Given the description of an element on the screen output the (x, y) to click on. 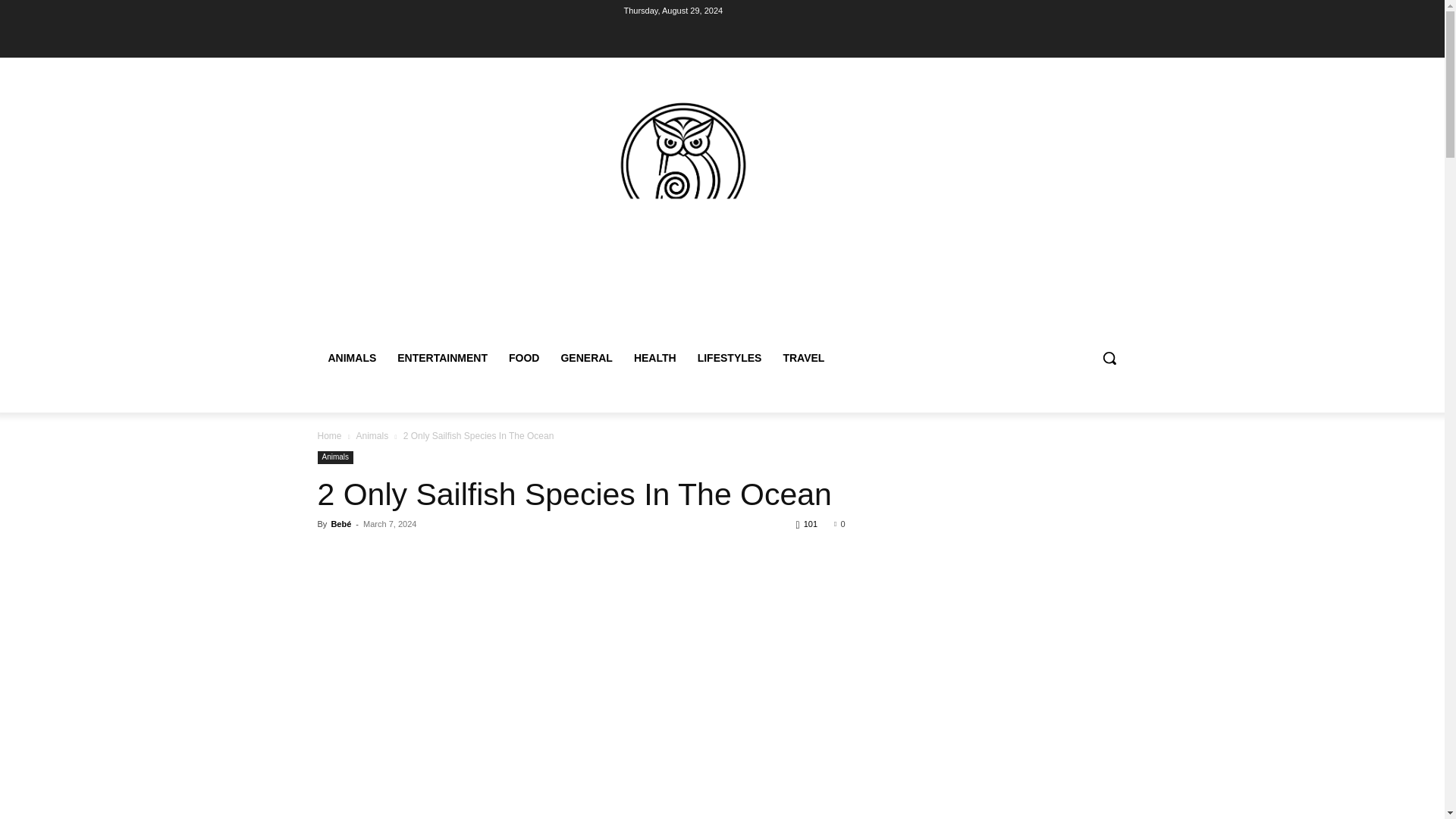
View all posts in Animals (371, 435)
HEALTH (655, 357)
FOOD (523, 357)
TRAVEL (802, 357)
ENTERTAINMENT (442, 357)
Home (328, 435)
Animals (371, 435)
Animals (335, 457)
0 (839, 523)
GENERAL (586, 357)
